Given the description of an element on the screen output the (x, y) to click on. 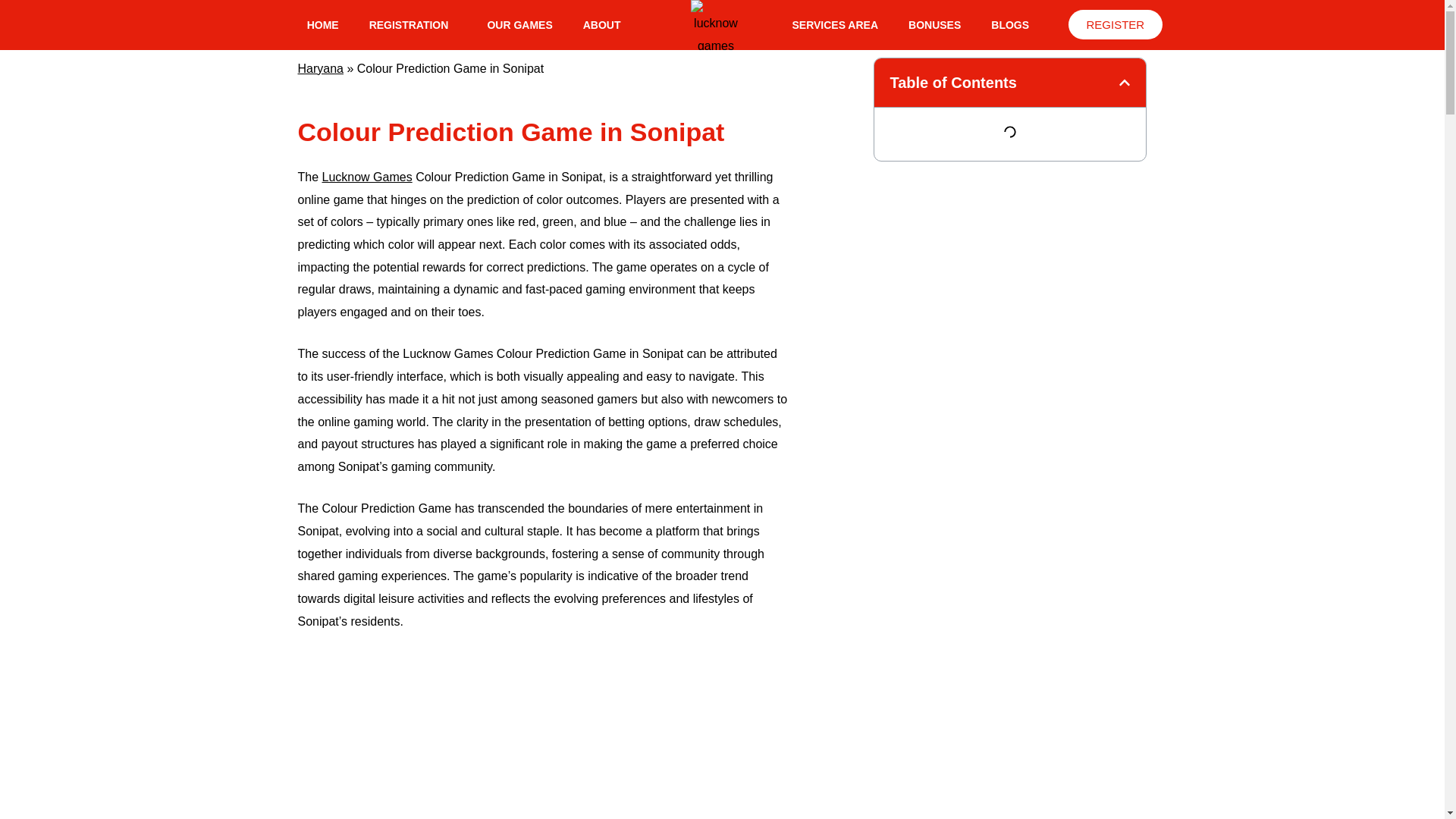
REGISTRATION (412, 24)
HOME (322, 24)
BLOGS (1009, 24)
Lucknow Games (366, 176)
REGISTER (1114, 24)
Haryana (319, 68)
BONUSES (934, 24)
ABOUT (601, 24)
OUR GAMES (519, 24)
SERVICES AREA (834, 24)
